Given the description of an element on the screen output the (x, y) to click on. 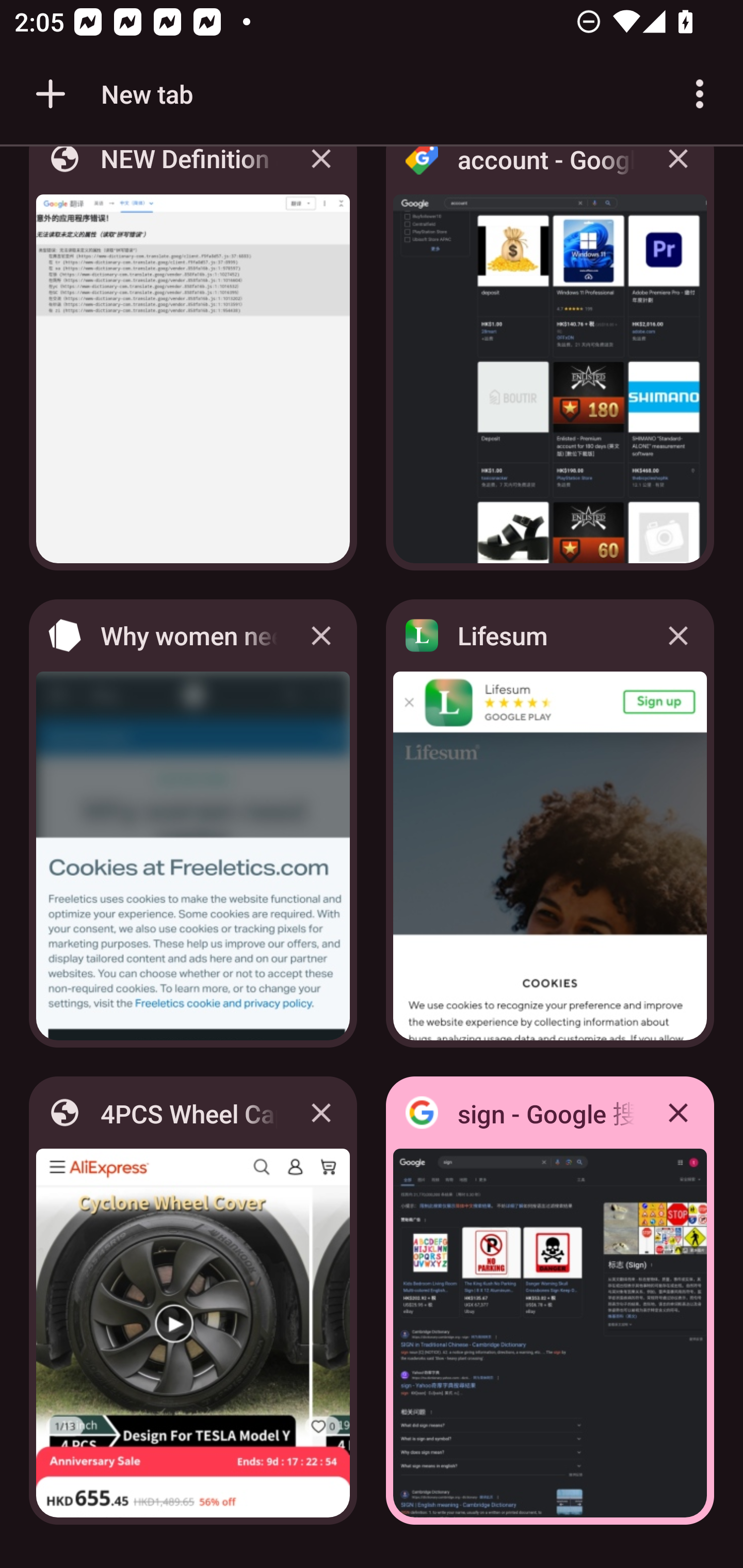
New tab (111, 93)
Customize and control Google Chrome (699, 93)
Close account - Google购物 tab (677, 173)
Lifesum Lifesum, tab Close Lifesum tab (549, 822)
Close Why women need carbs tab (320, 635)
Close Lifesum tab (677, 635)
Close sign - Google 搜索 tab (677, 1112)
